Given the description of an element on the screen output the (x, y) to click on. 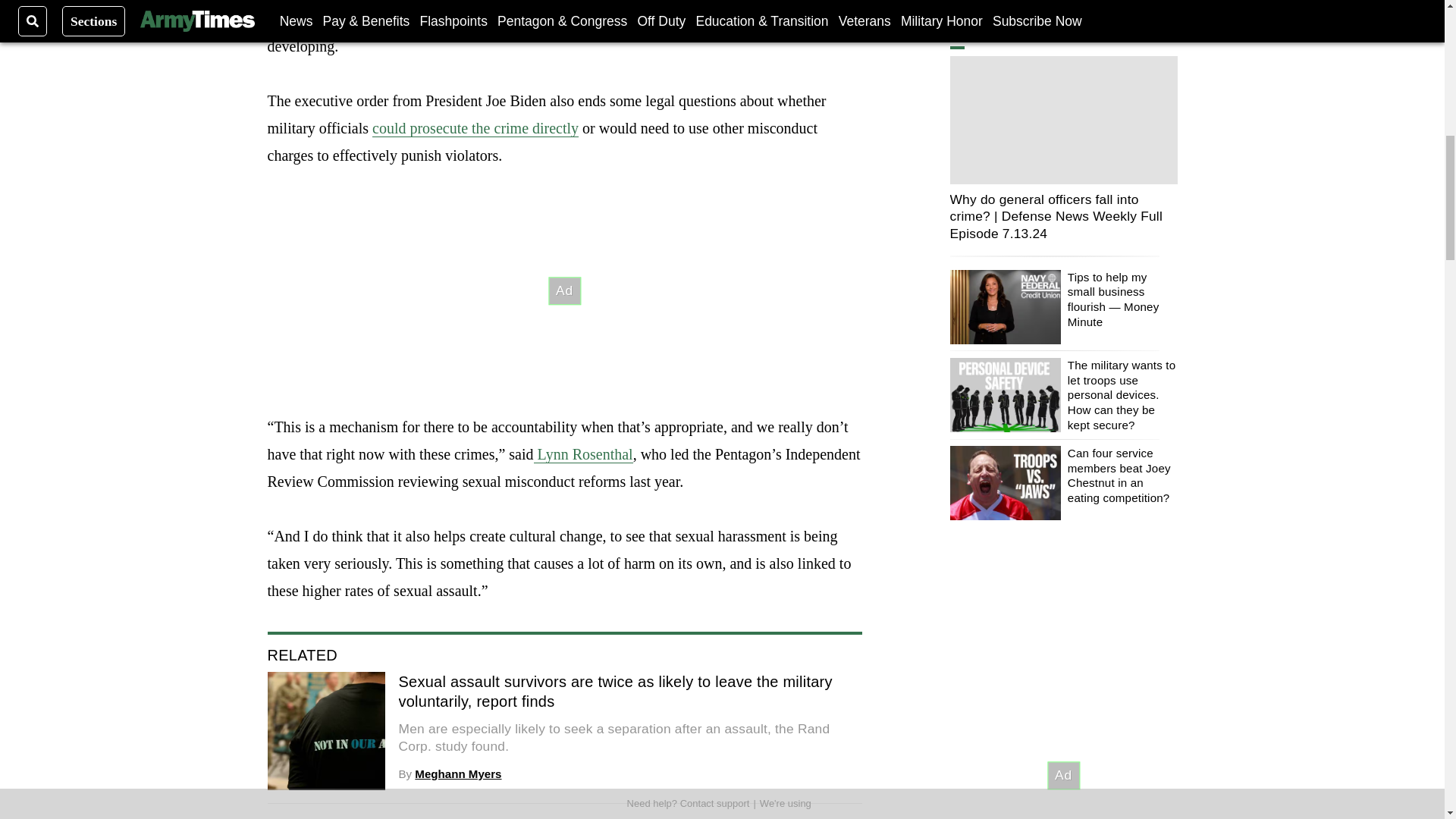
3rd party ad content (563, 290)
